Given the description of an element on the screen output the (x, y) to click on. 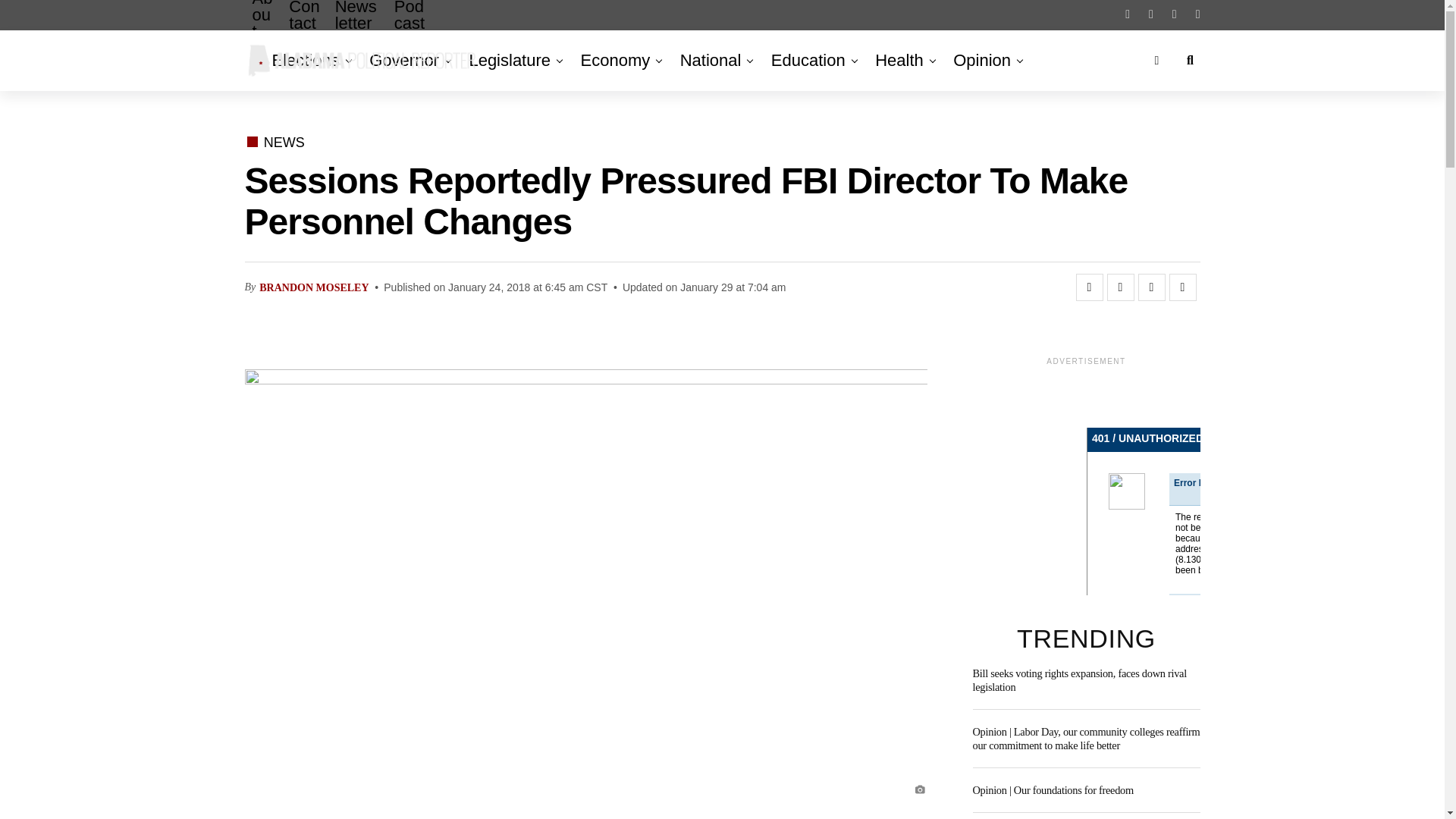
Tweet This Post (1120, 287)
Share on Facebook (1088, 287)
Governor (403, 60)
Elections (308, 60)
Share on Flipboard (1150, 287)
Newsletter (357, 27)
Posts by Brandon Moseley (313, 287)
